Given the description of an element on the screen output the (x, y) to click on. 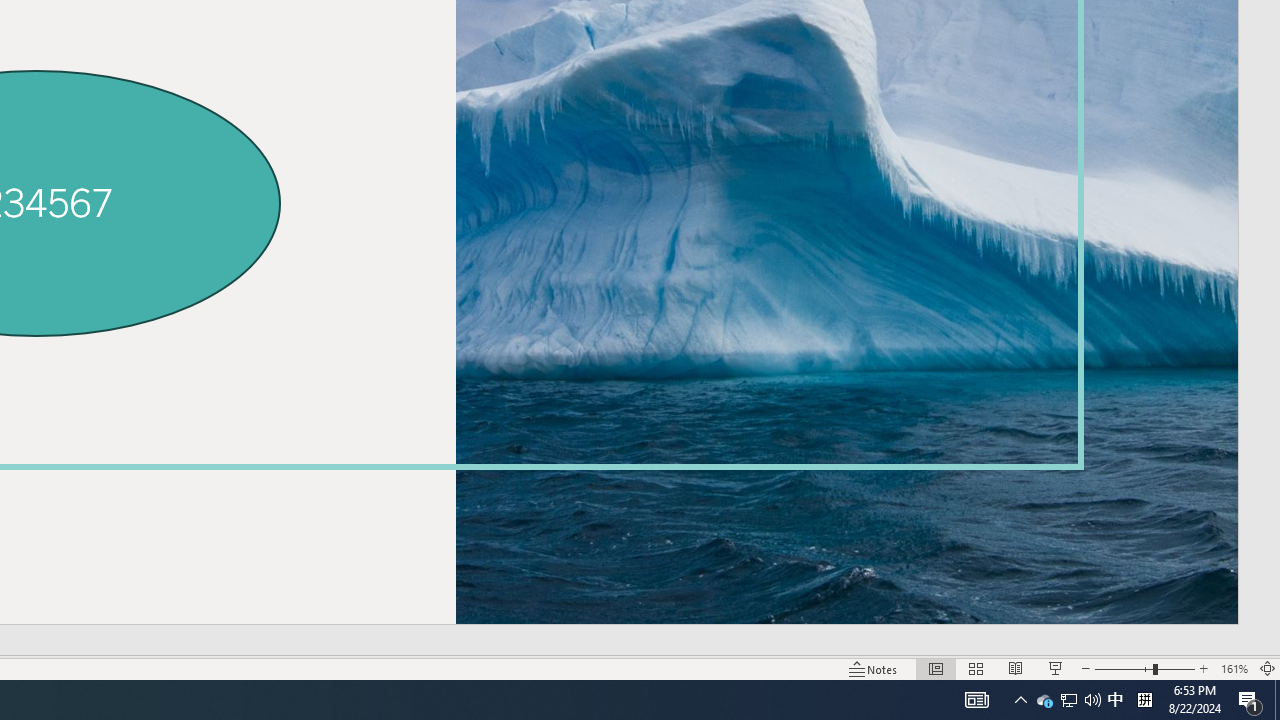
Normal (936, 668)
Zoom (1144, 668)
Zoom In (1204, 668)
Zoom 161% (1234, 668)
Reading View (1015, 668)
Slide Sorter (975, 668)
Zoom Out (1123, 668)
Notes  (874, 668)
Zoom to Fit  (1267, 668)
Slide Show (1055, 668)
